Given the description of an element on the screen output the (x, y) to click on. 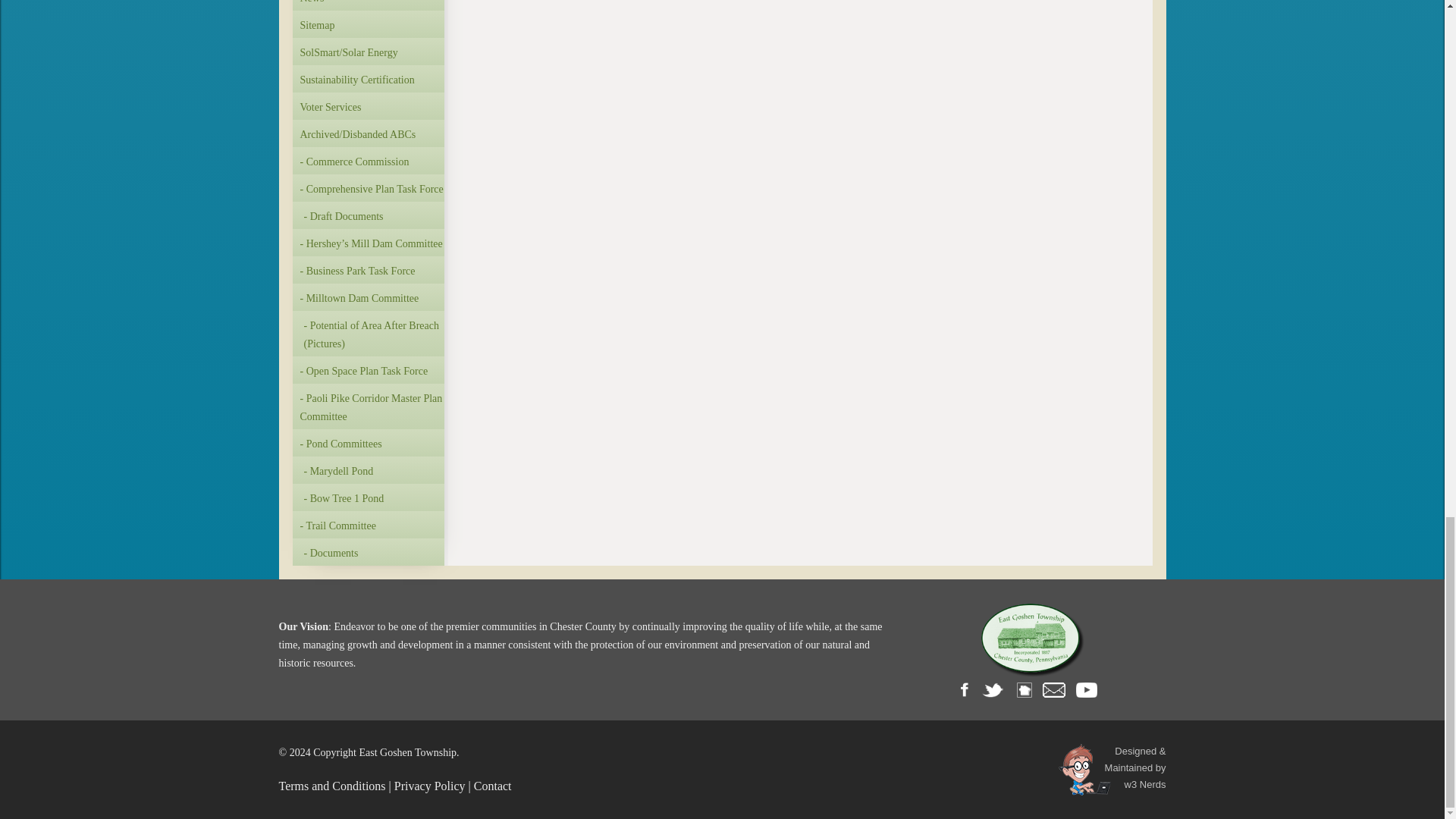
Facebook (968, 687)
YouTube (1090, 687)
Twitter (996, 687)
Nextdoor (1027, 687)
Constant Contact (1057, 687)
